Given the description of an element on the screen output the (x, y) to click on. 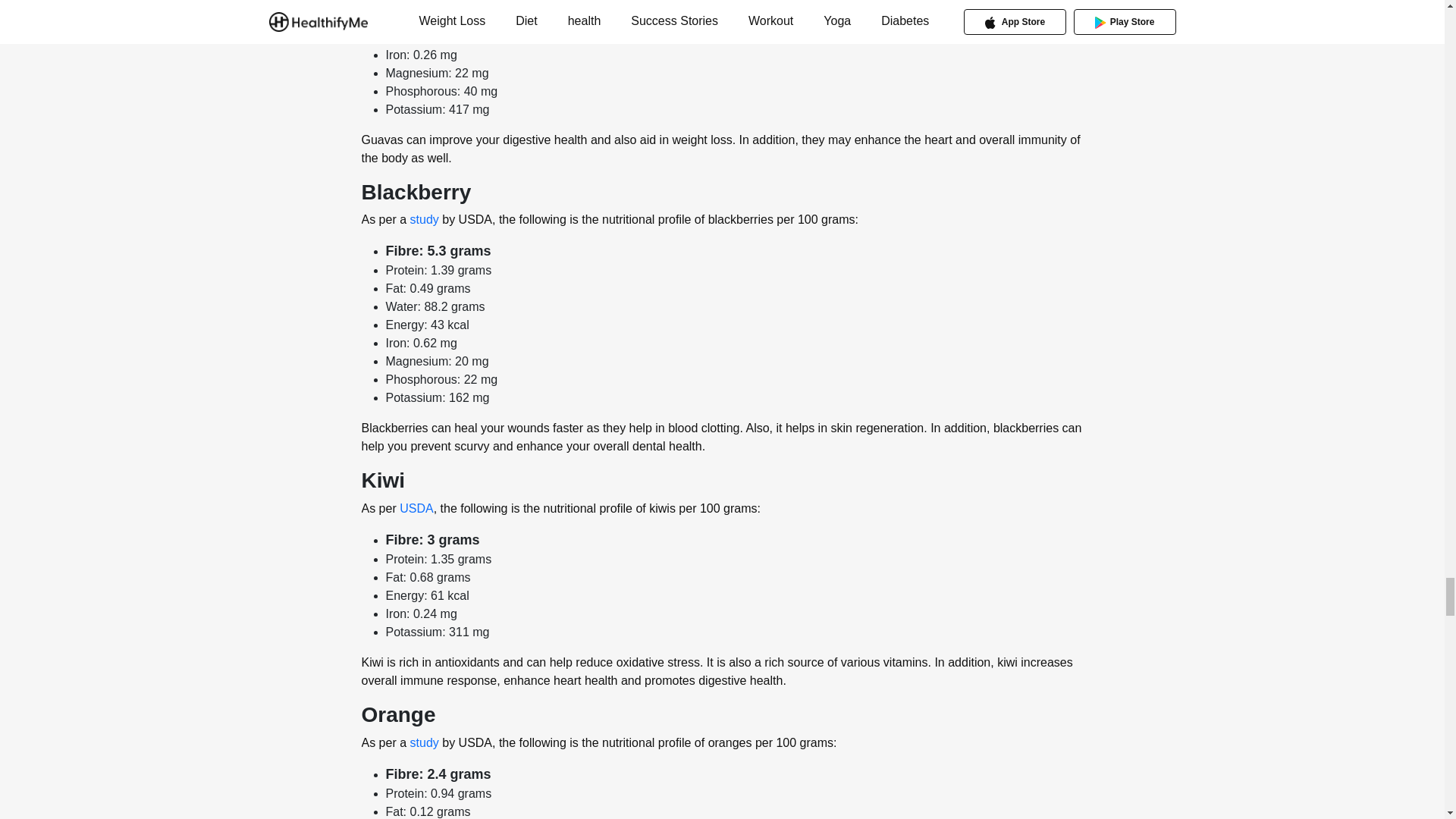
study (422, 219)
study (422, 742)
USDA (415, 508)
